Given the description of an element on the screen output the (x, y) to click on. 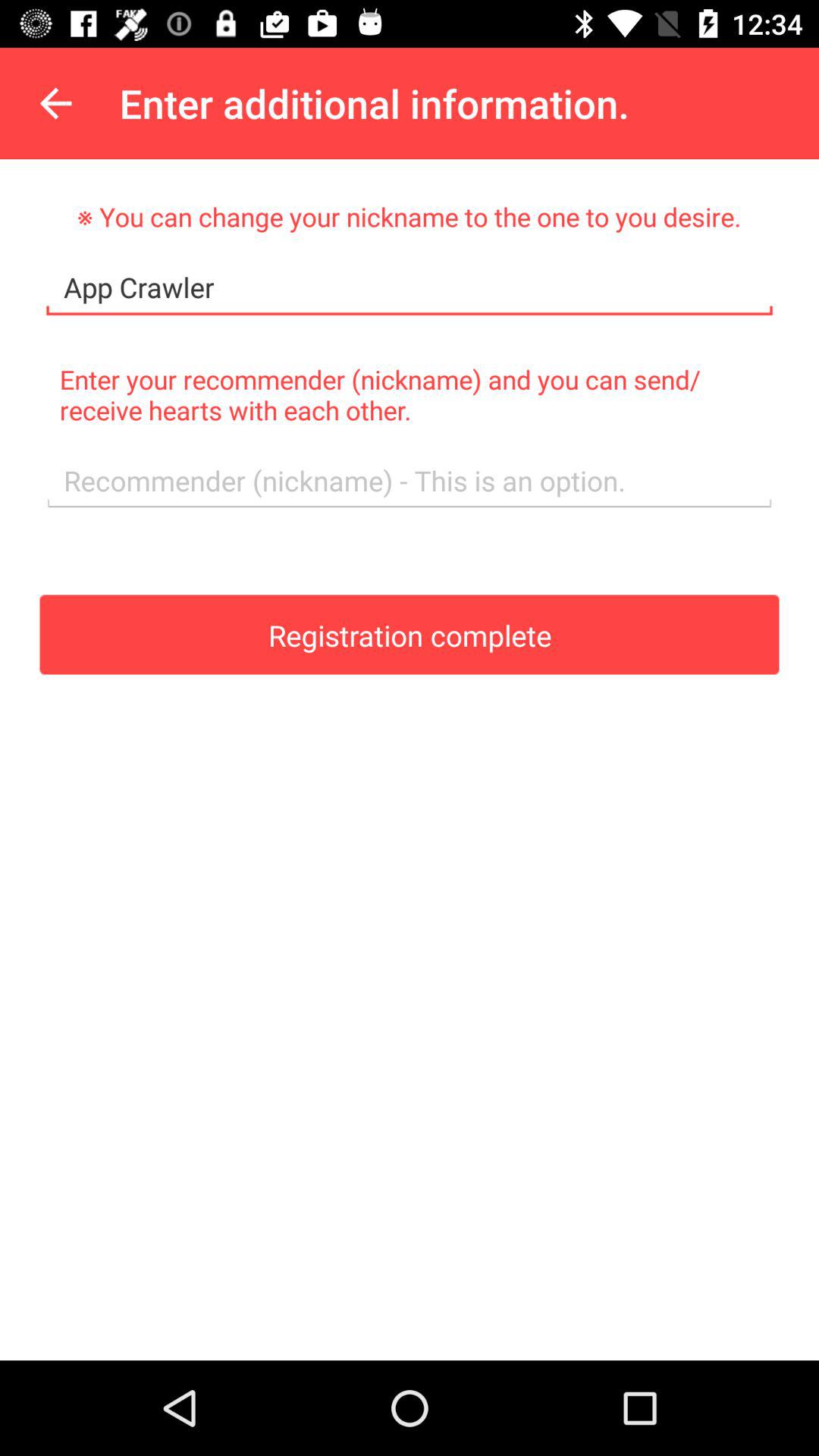
press registration complete (409, 634)
